Given the description of an element on the screen output the (x, y) to click on. 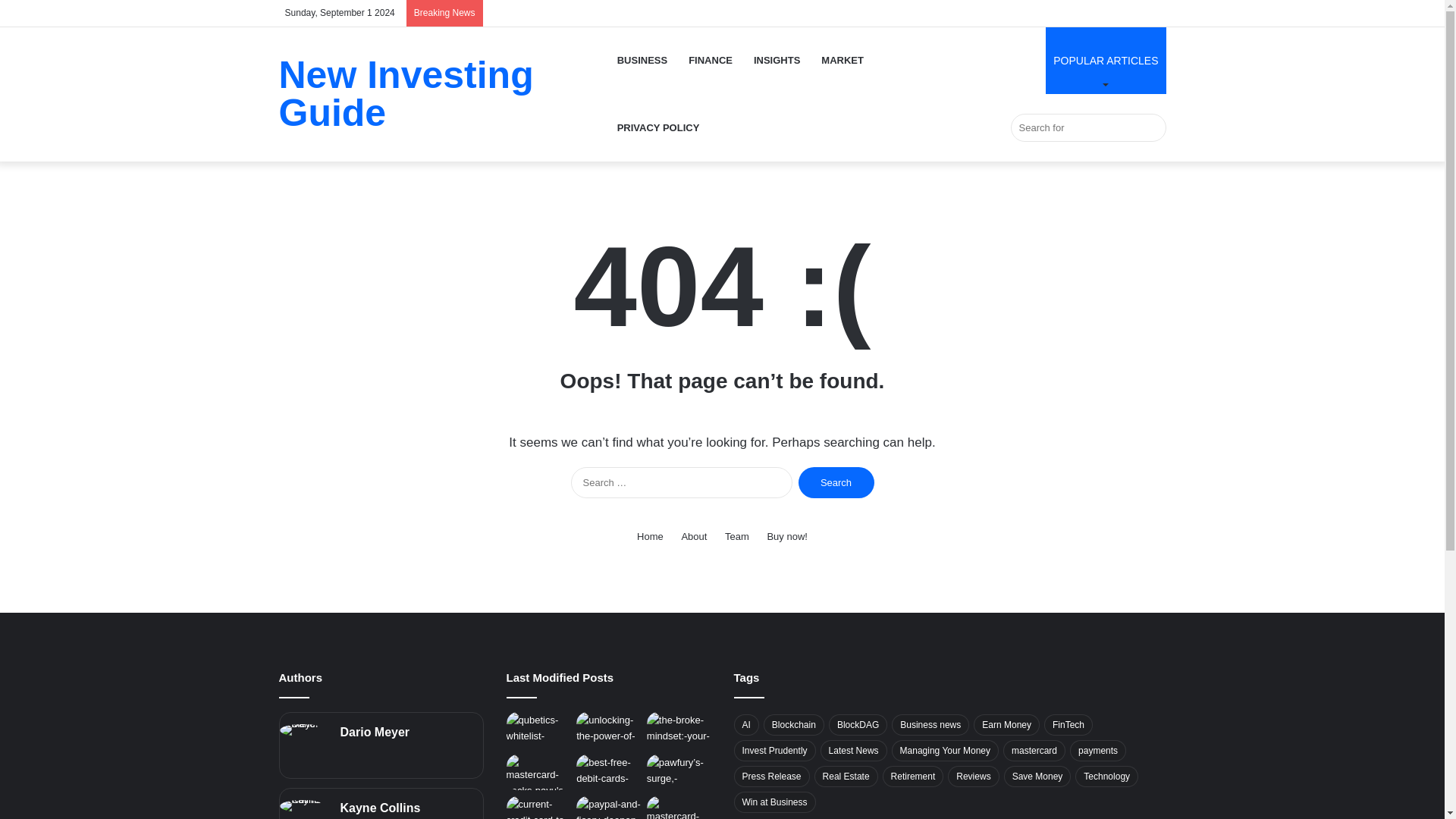
Search (835, 481)
BUSINESS (642, 60)
Search for (1088, 127)
MARKET (842, 60)
New Investing Guide (443, 93)
PRIVACY POLICY (658, 127)
New Investing Guide (443, 93)
Search (835, 481)
INSIGHTS (776, 60)
Buy now! (786, 536)
